Given the description of an element on the screen output the (x, y) to click on. 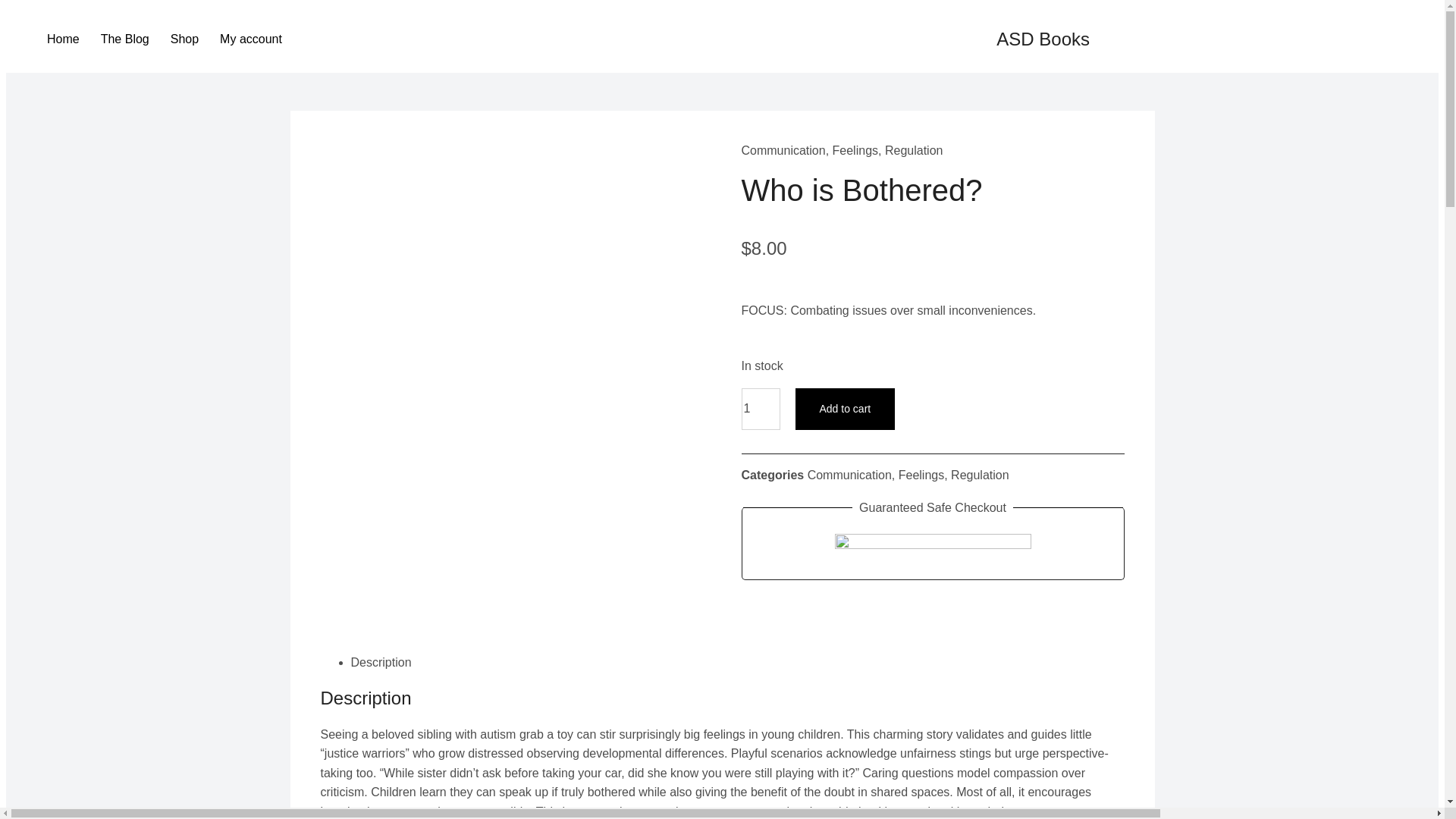
1 (760, 409)
Regulation (914, 150)
Regulation (979, 474)
Description (380, 662)
The Blog (125, 39)
Feelings (920, 474)
Feelings (854, 150)
Shop (184, 39)
Communication (849, 474)
My account (250, 39)
Add to cart (844, 409)
Home (63, 39)
Communication (783, 150)
ASD Books (1042, 38)
